Given the description of an element on the screen output the (x, y) to click on. 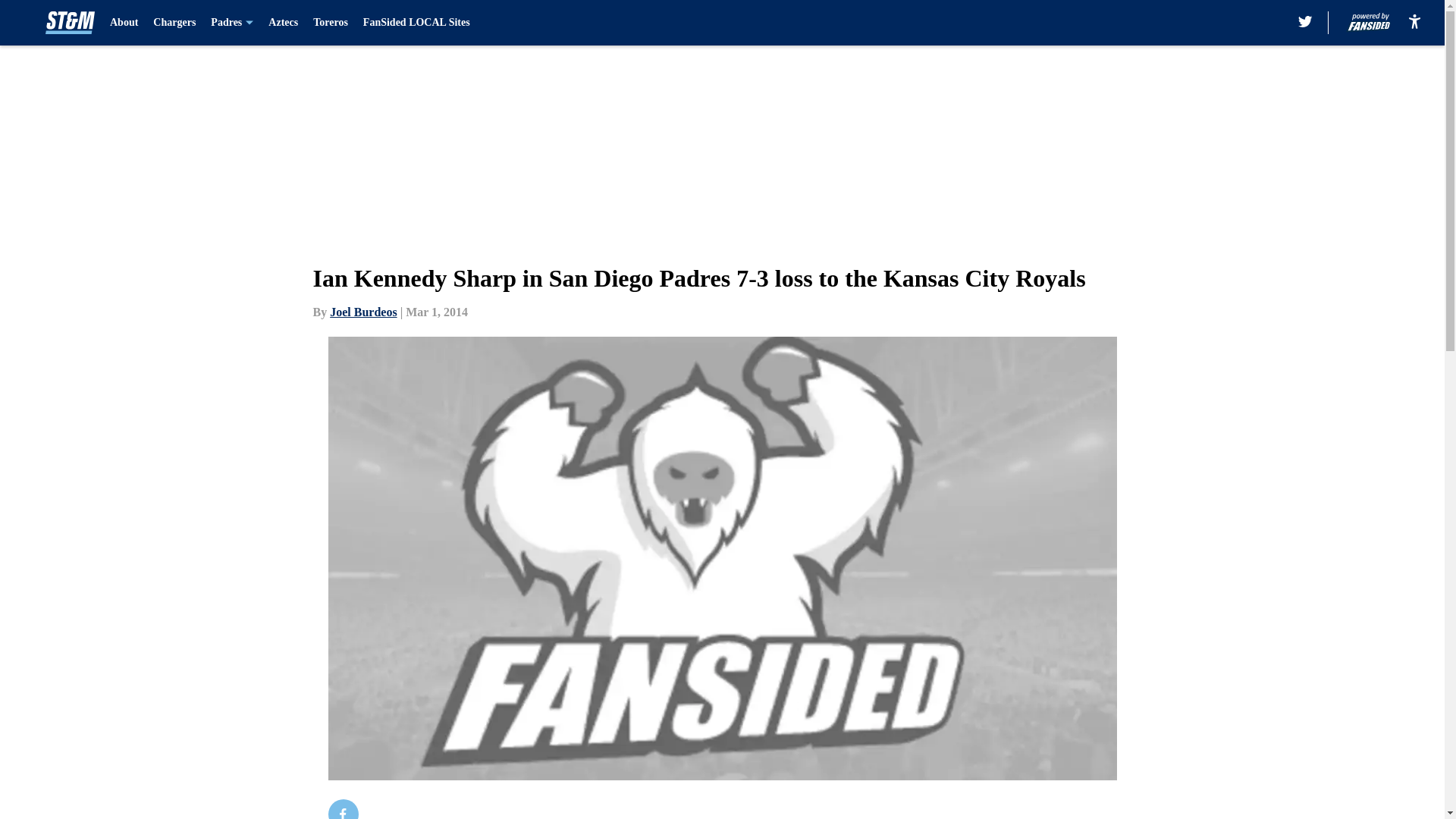
Aztecs (282, 22)
Toreros (330, 22)
Chargers (173, 22)
Joel Burdeos (363, 311)
About (124, 22)
FanSided LOCAL Sites (416, 22)
